Given the description of an element on the screen output the (x, y) to click on. 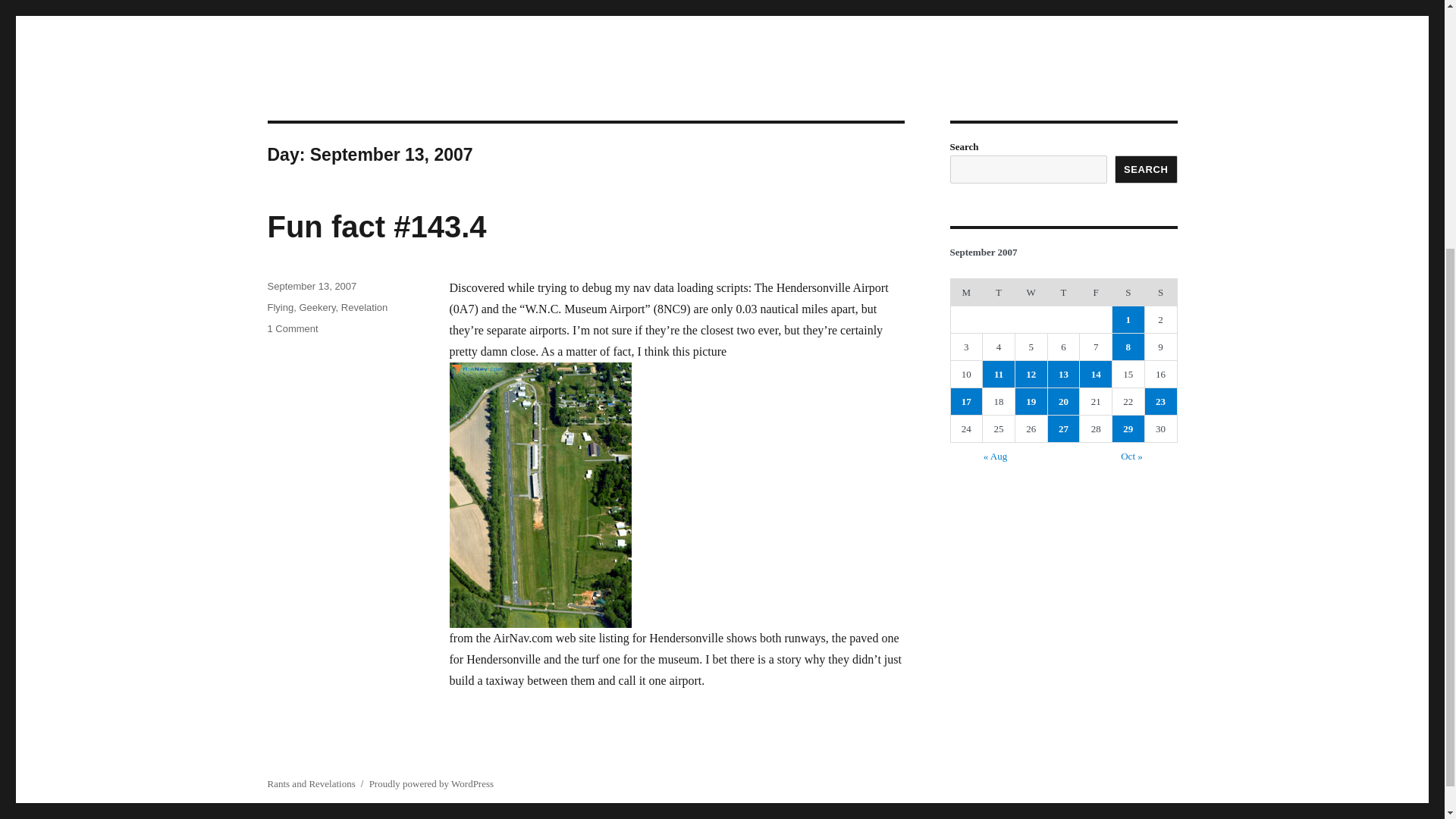
27 (1064, 428)
Geekery (316, 307)
SEARCH (1146, 169)
1 (1128, 319)
Sunday (1160, 291)
Proudly powered by WordPress (431, 783)
Wednesday (1030, 291)
11 (998, 374)
Flying (280, 307)
Thursday (1063, 291)
